Given the description of an element on the screen output the (x, y) to click on. 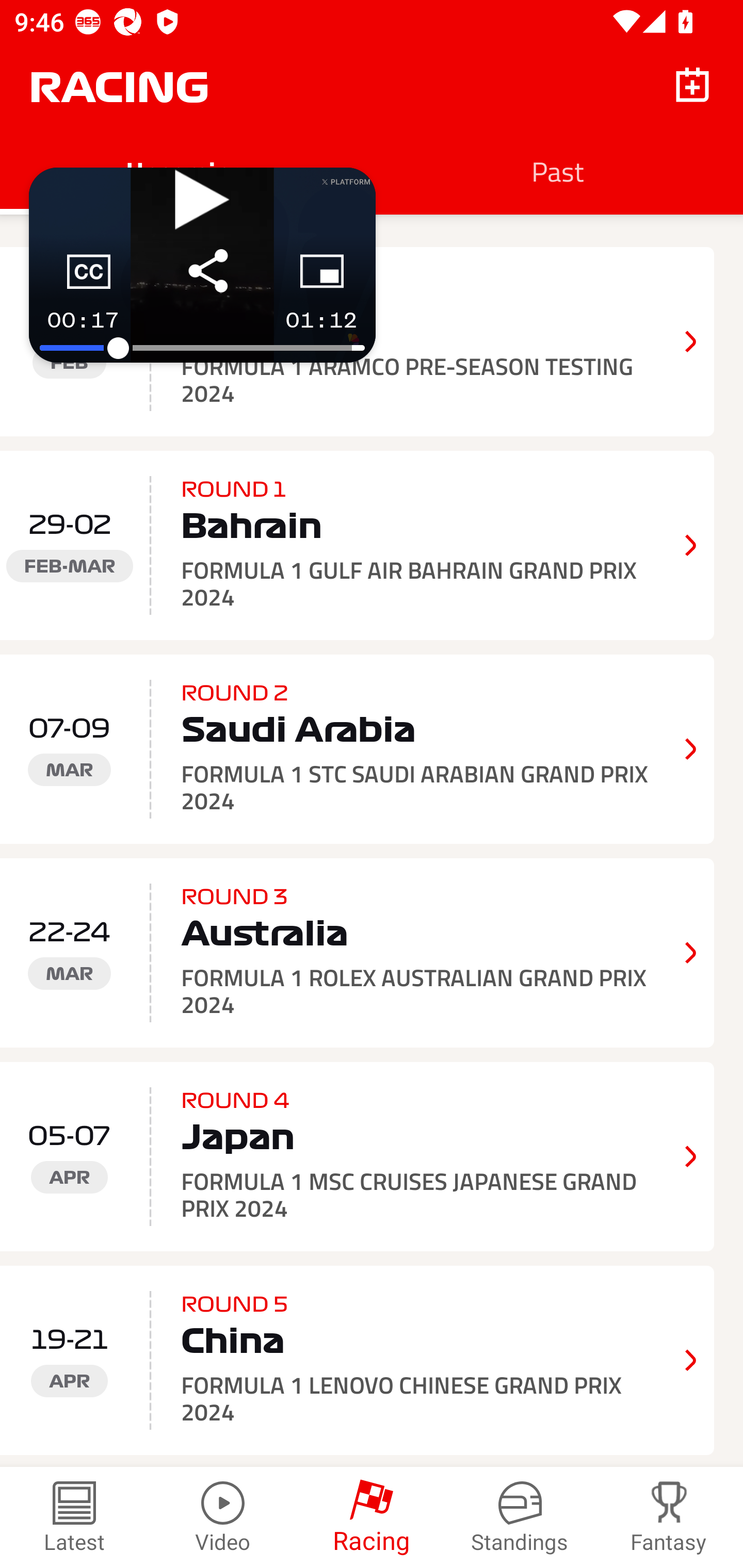
Past (557, 171)
Latest (74, 1517)
Video (222, 1517)
Standings (519, 1517)
Fantasy (668, 1517)
